Given the description of an element on the screen output the (x, y) to click on. 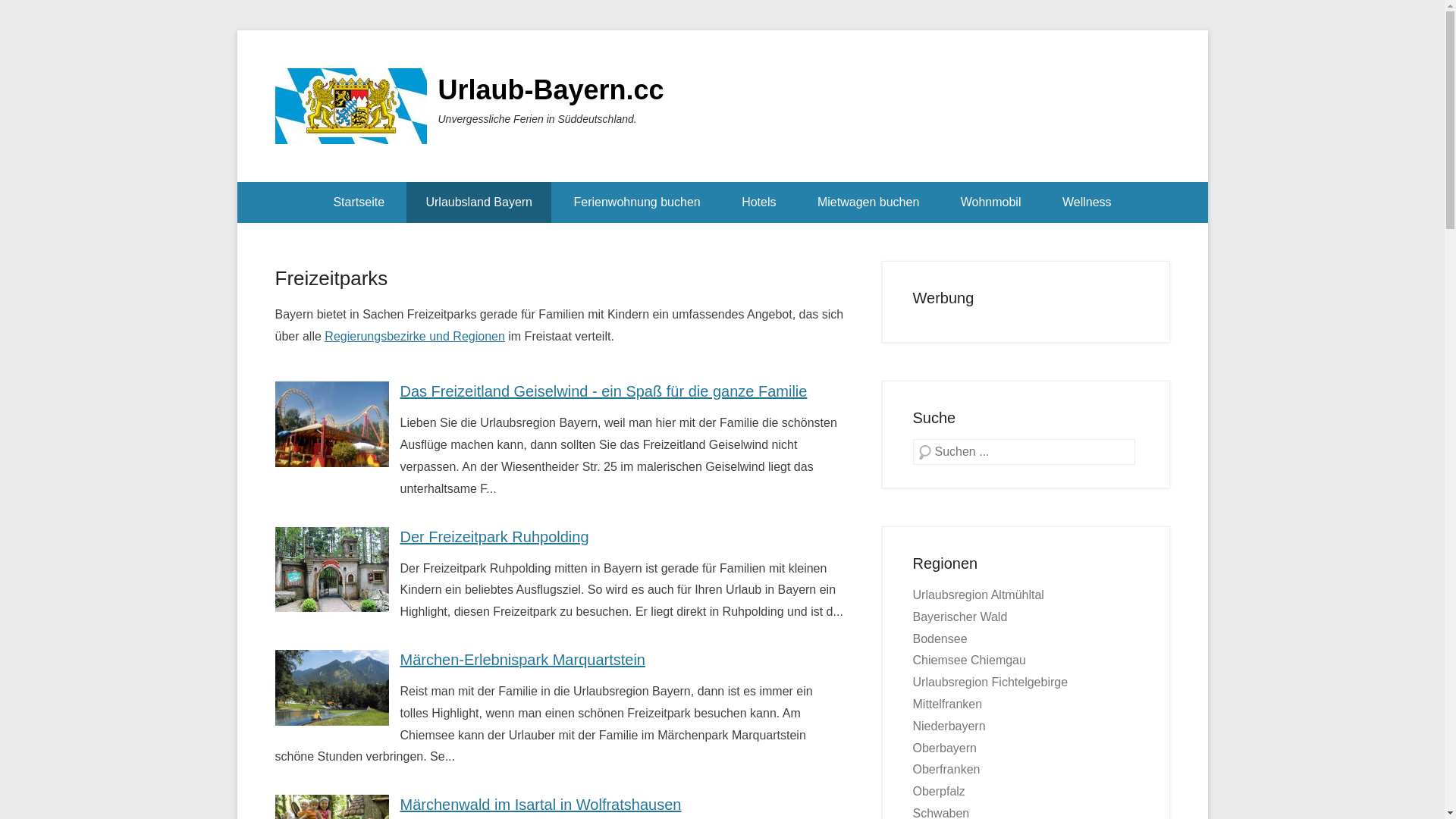
Urlaub-Bayern.cc Element type: text (551, 89)
Urlaubsland Bayern Element type: text (478, 202)
Wellness Element type: text (1086, 202)
Bodensee Element type: text (940, 638)
Oberfranken Element type: text (946, 768)
Oberbayern Element type: text (945, 747)
Suche Element type: text (31, 15)
Freizeitparks Element type: text (330, 277)
Mietwagen buchen Element type: text (868, 202)
Hotels Element type: text (758, 202)
Der Freizeitpark Ruhpolding Element type: text (494, 536)
Bayerischer Wald Element type: text (960, 616)
Regierungsbezirke und Regionen Element type: text (414, 335)
Chiemsee Chiemgau Element type: text (969, 659)
Oberpfalz Element type: text (939, 790)
Urlaubsregion Fichtelgebirge Element type: text (990, 681)
Der Freizeitpark Ruhpolding Element type: hover (331, 569)
Wohnmobil Element type: text (990, 202)
Niederbayern Element type: text (949, 725)
Startseite Element type: text (358, 202)
Ferienwohnung buchen Element type: text (636, 202)
Mittelfranken Element type: text (947, 703)
